Given the description of an element on the screen output the (x, y) to click on. 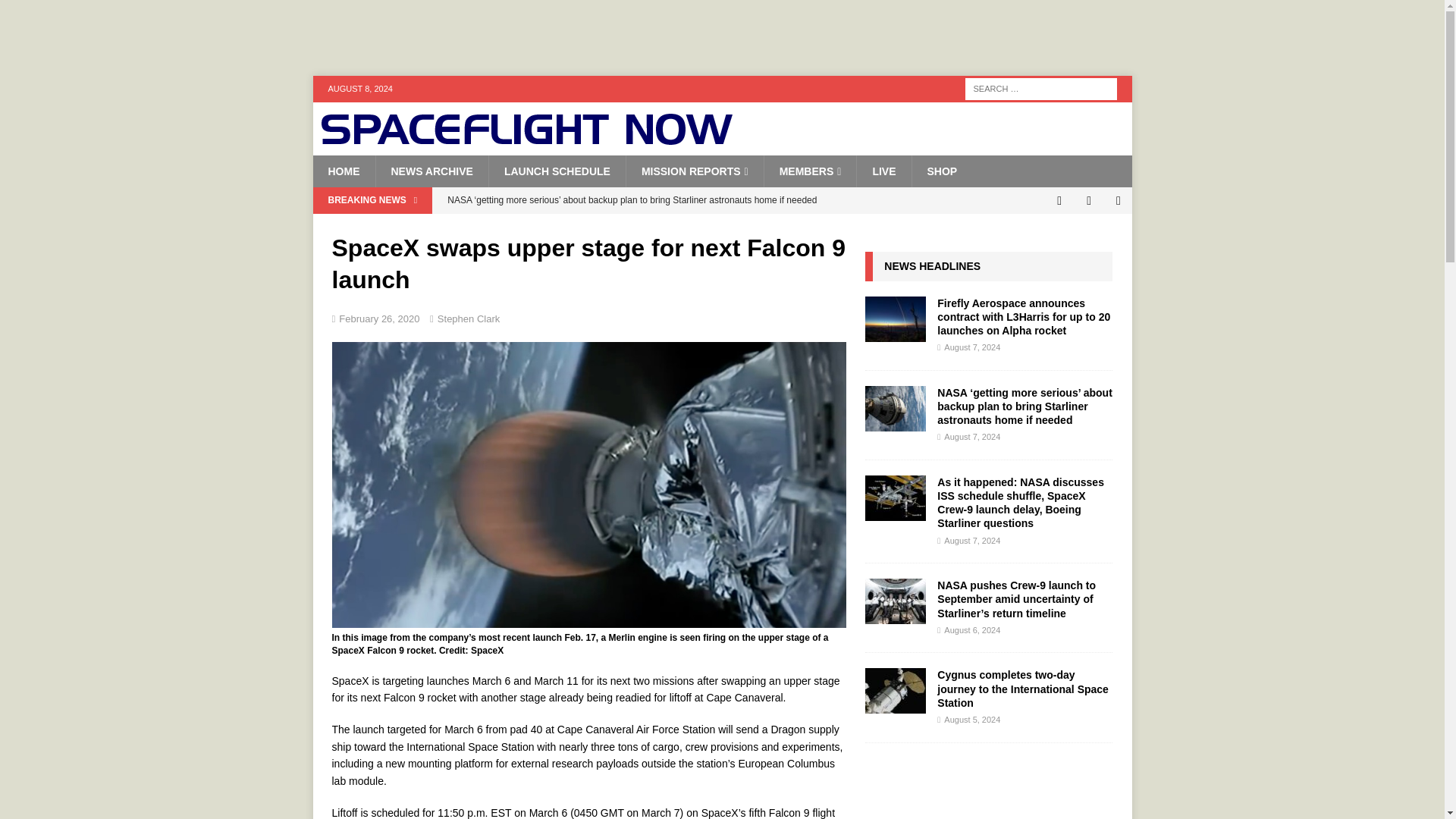
Search (56, 11)
MEMBERS (809, 171)
HOME (343, 171)
Spaceflight Now (526, 139)
NEWS ARCHIVE (430, 171)
MISSION REPORTS (694, 171)
LAUNCH SCHEDULE (556, 171)
